Given the description of an element on the screen output the (x, y) to click on. 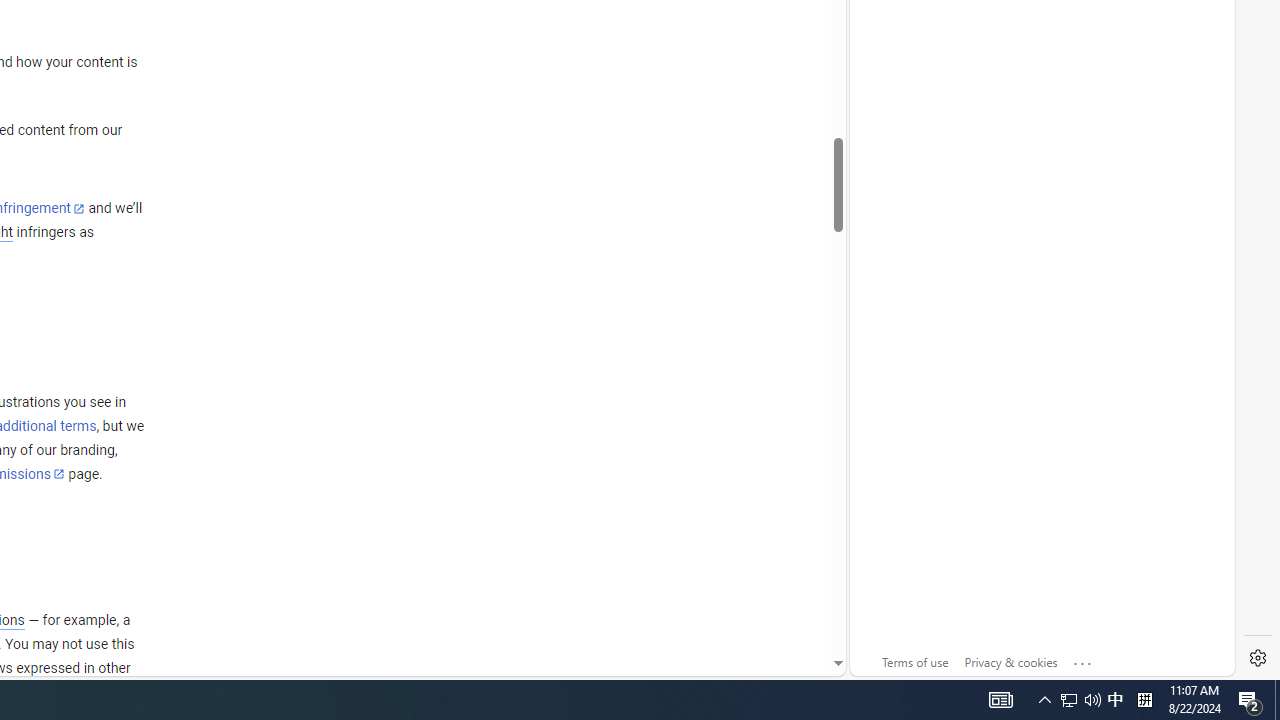
Privacy & cookies (1010, 662)
Terms of use (914, 662)
Click here for troubleshooting information (1083, 659)
